Given the description of an element on the screen output the (x, y) to click on. 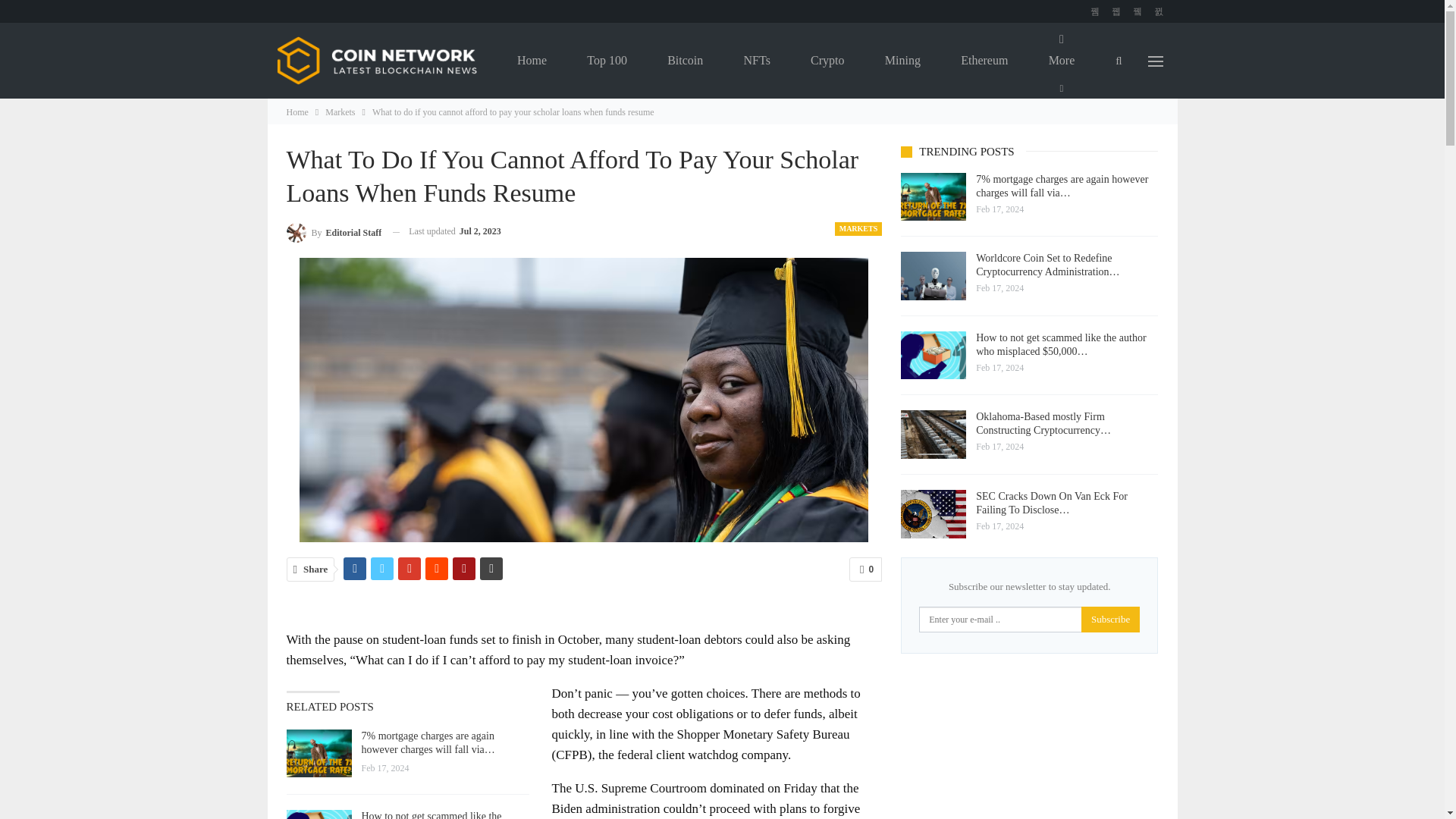
Home (297, 112)
Ethereum (984, 60)
By Editorial Staff (333, 231)
Mining (902, 60)
Bitcoin (684, 60)
Browse Author Articles (333, 231)
MARKETS (858, 228)
Home (531, 60)
Top 100 (606, 60)
Markets (339, 112)
